Given the description of an element on the screen output the (x, y) to click on. 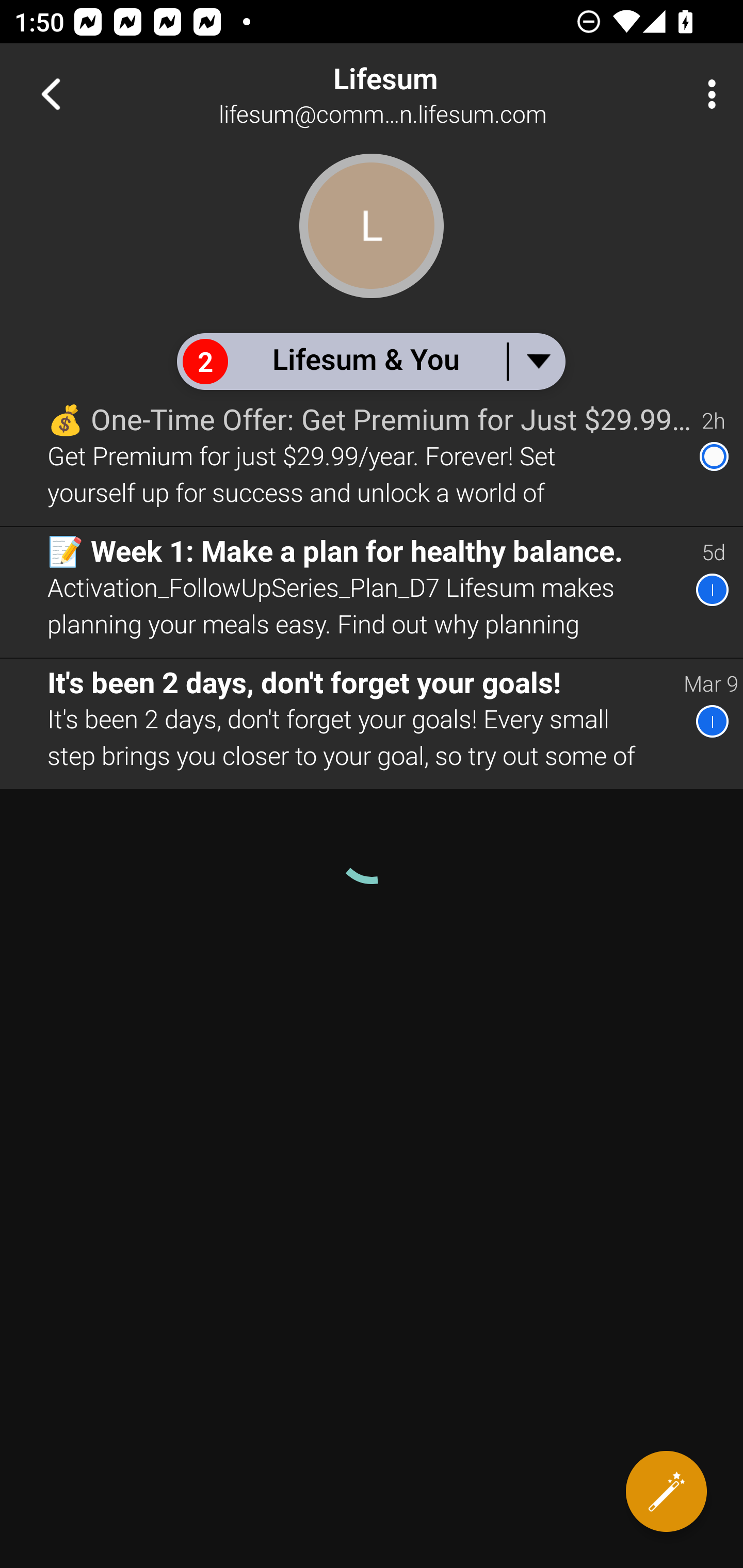
Navigate up (50, 93)
Lifesum lifesum@communication.lifesum.com (436, 93)
More Options (706, 93)
2 Lifesum & You (370, 361)
